Given the description of an element on the screen output the (x, y) to click on. 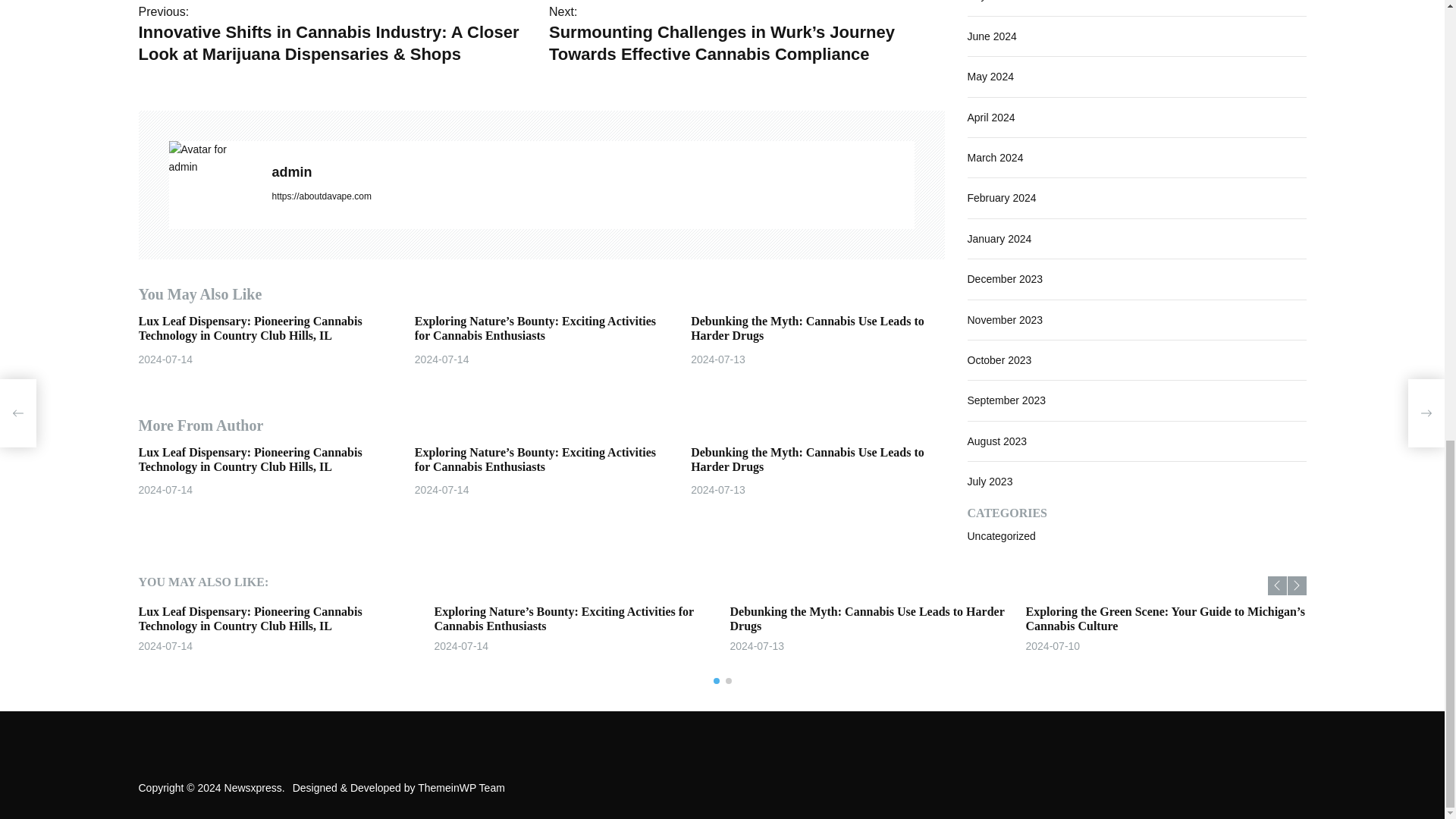
admin (592, 172)
admin (592, 172)
admin (212, 157)
